Given the description of an element on the screen output the (x, y) to click on. 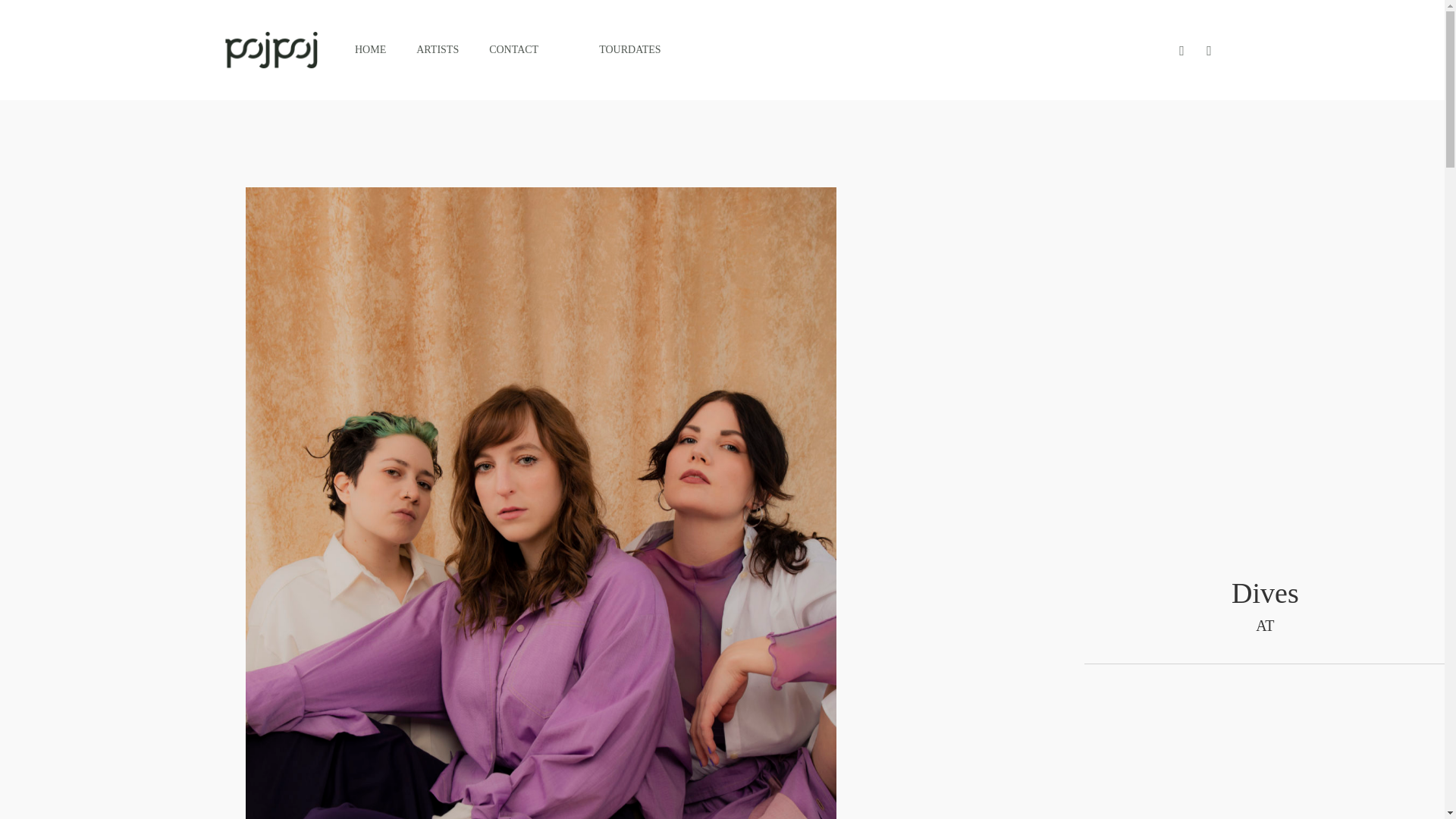
HOME (370, 50)
Instagram (1209, 49)
Facebook (1181, 49)
CONTACT (513, 50)
TOURDATES (629, 50)
ARTISTS (437, 50)
